Given the description of an element on the screen output the (x, y) to click on. 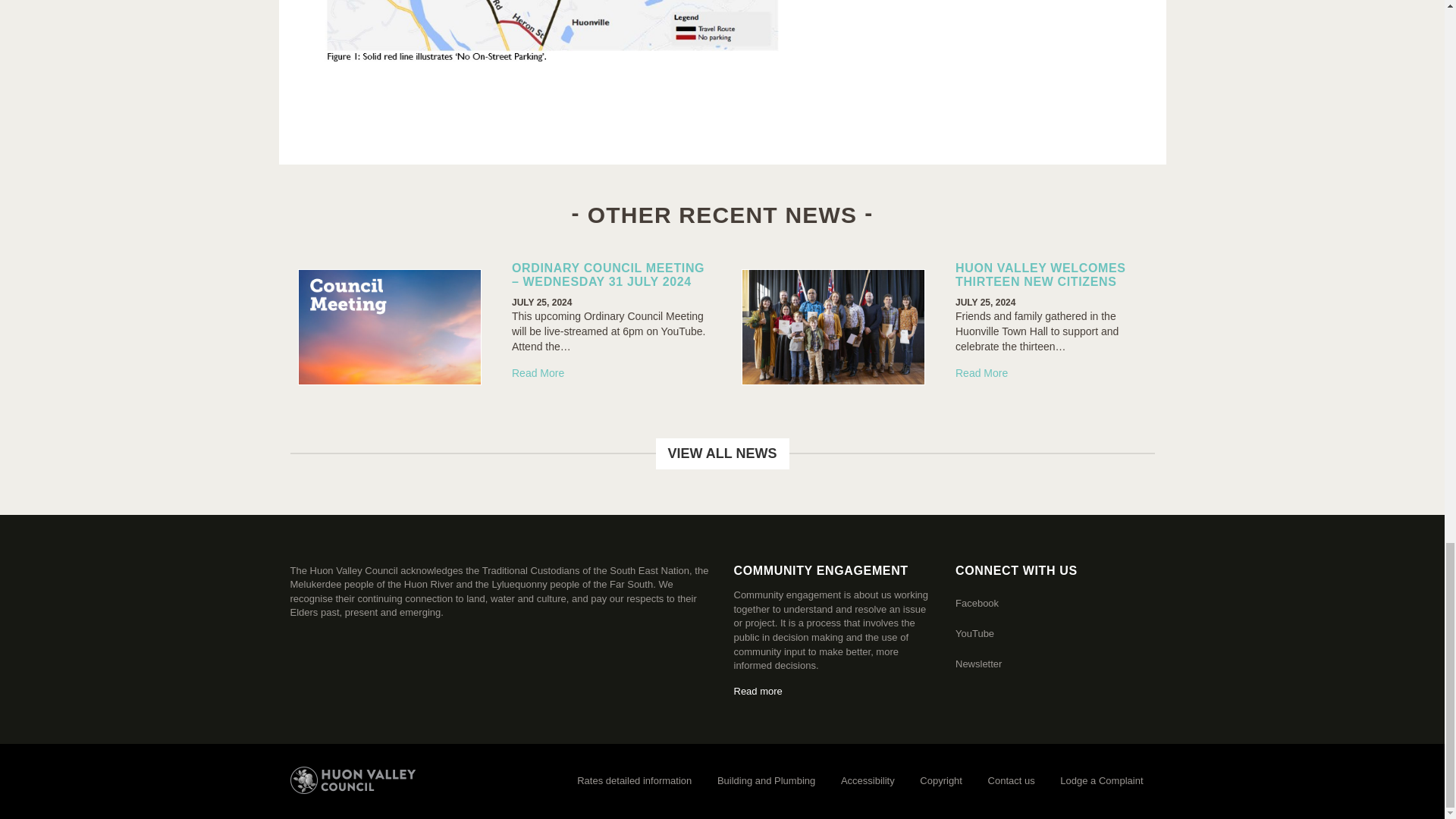
Accessibility (867, 781)
Contact us (1011, 781)
Lodge a Complaint (1101, 781)
Copyright (941, 781)
Facebook (976, 603)
Read More (538, 372)
VIEW ALL NEWS (722, 453)
Read more (758, 690)
Newsletter (978, 663)
Rates detailed information (634, 781)
HUON VALLEY WELCOMES THIRTEEN NEW CITIZENS (1040, 274)
YouTube (974, 633)
Read More (981, 372)
Building and Plumbing (766, 781)
